Given the description of an element on the screen output the (x, y) to click on. 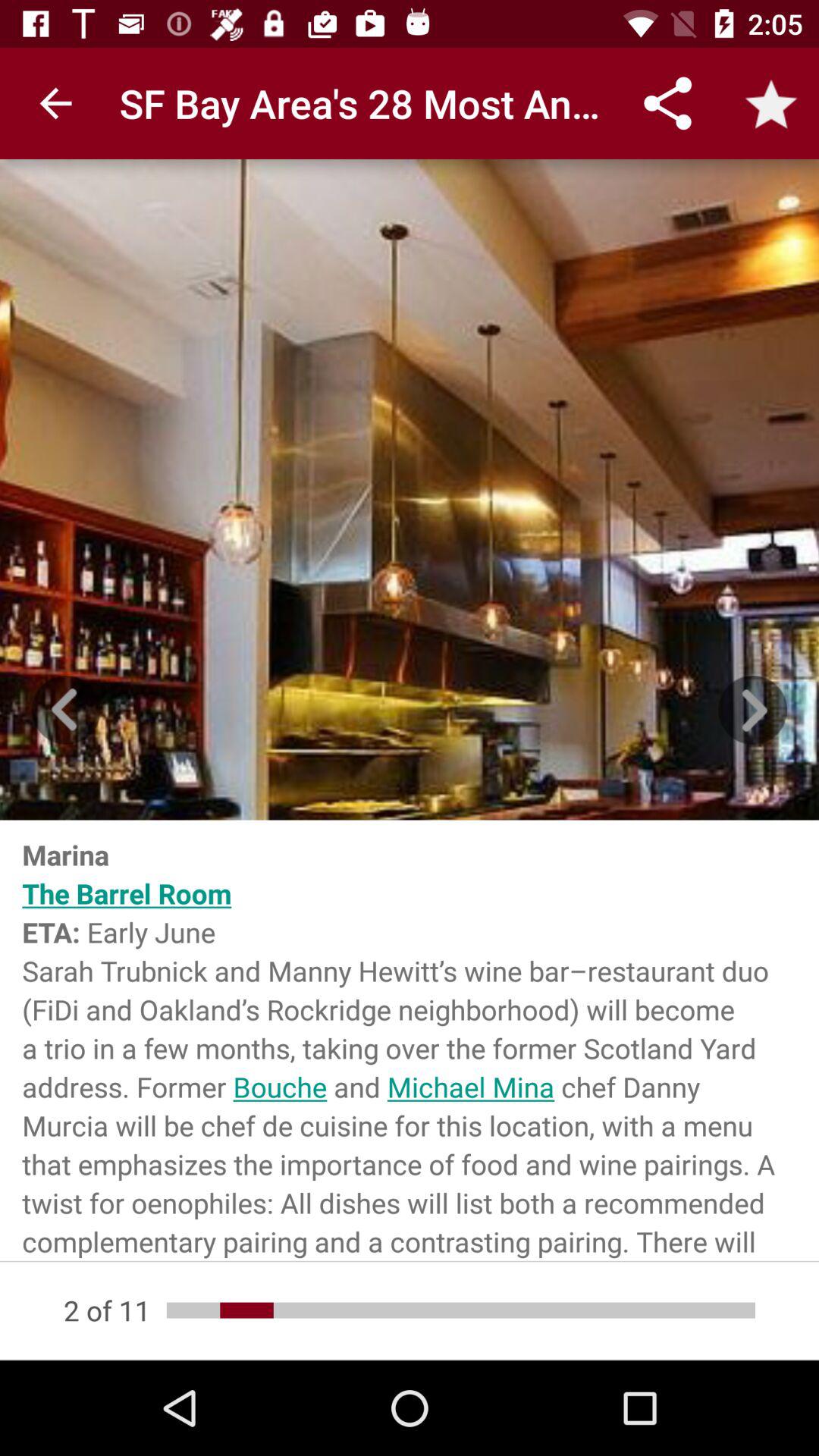
tap app next to the sf bay area item (55, 103)
